Given the description of an element on the screen output the (x, y) to click on. 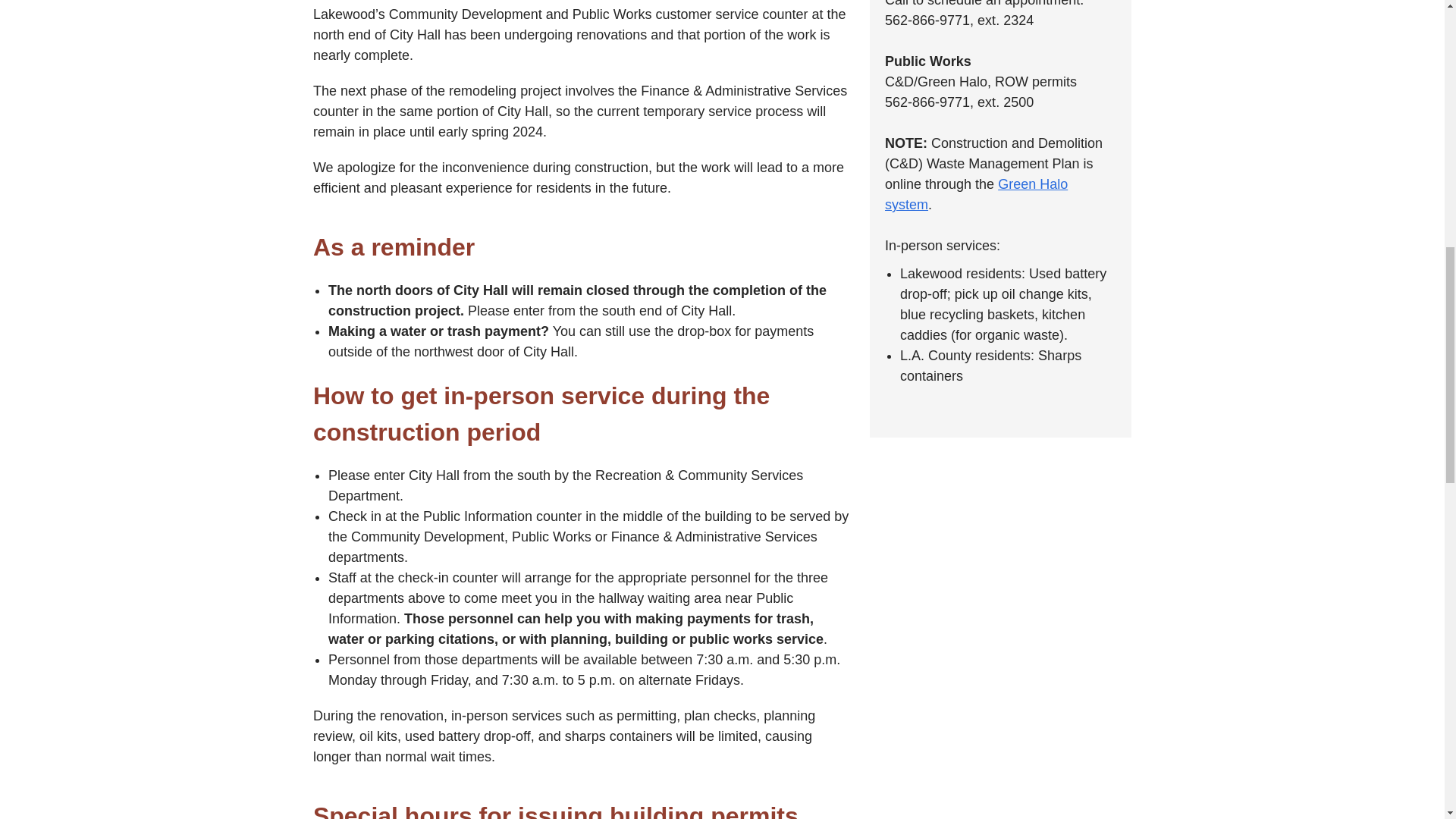
Green Halo online system (976, 194)
